Given the description of an element on the screen output the (x, y) to click on. 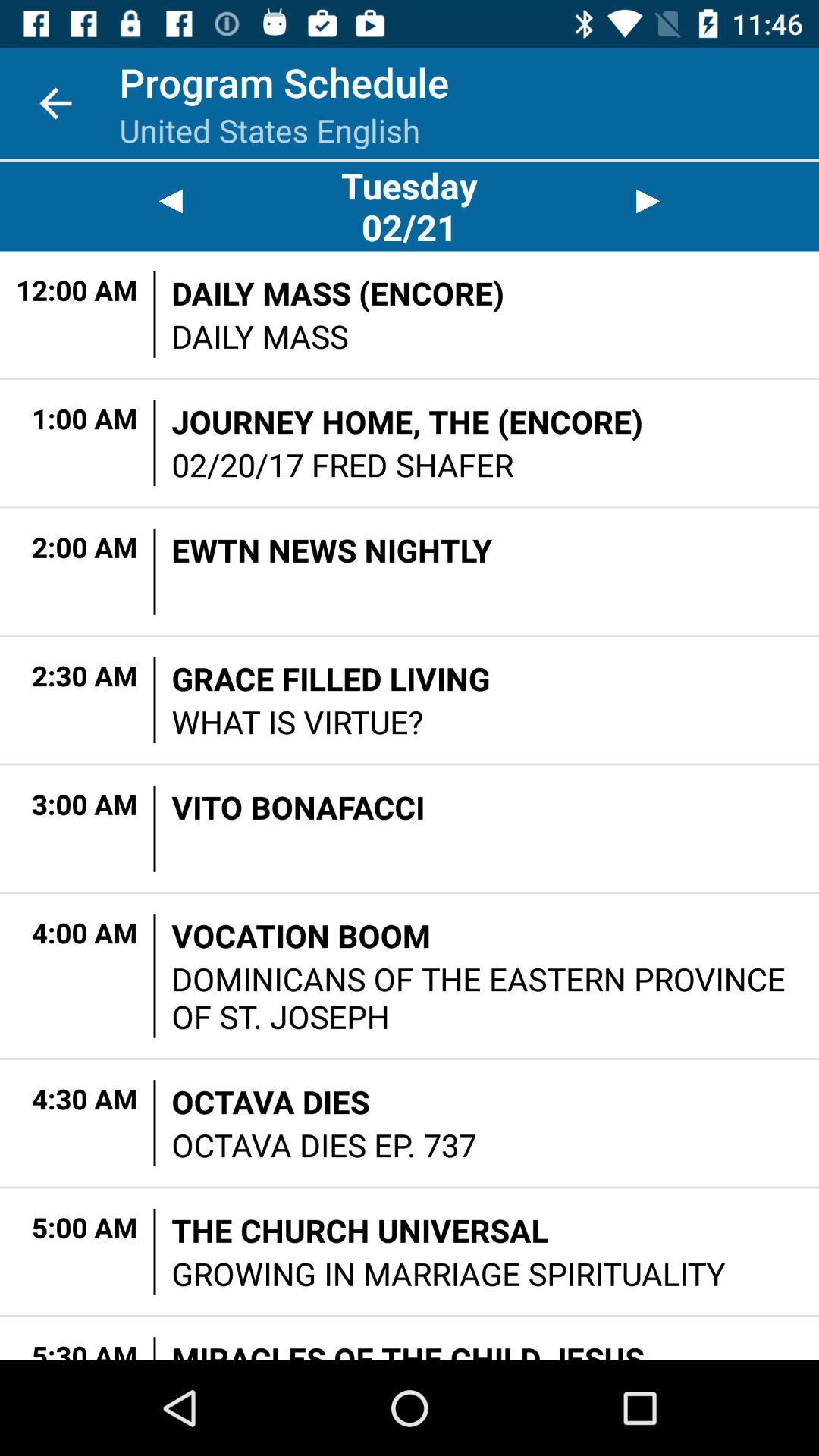
launch icon next to program schedule item (55, 103)
